Given the description of an element on the screen output the (x, y) to click on. 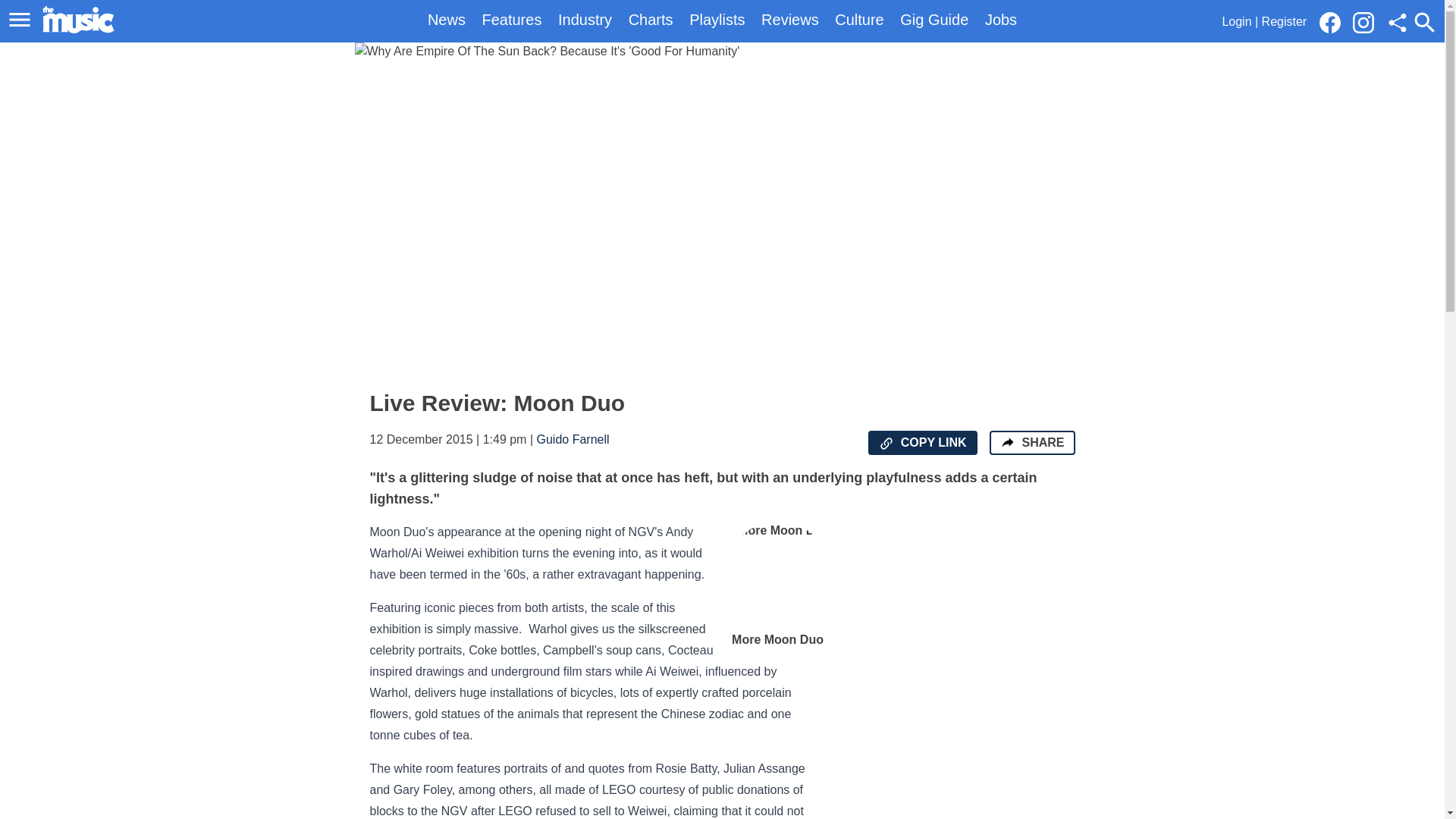
Share the page SHARE (1032, 442)
News (446, 19)
Open the main menu (22, 19)
Industry (584, 19)
Copy the page URL (886, 443)
Playlists (716, 19)
Open the site search menu (1424, 22)
Share the page (1007, 441)
Charts (650, 19)
Login (1235, 21)
Link to our Instagram (1363, 22)
Culture (858, 19)
More Moon Duo (777, 585)
Share this page (1397, 22)
Jobs (1000, 19)
